Given the description of an element on the screen output the (x, y) to click on. 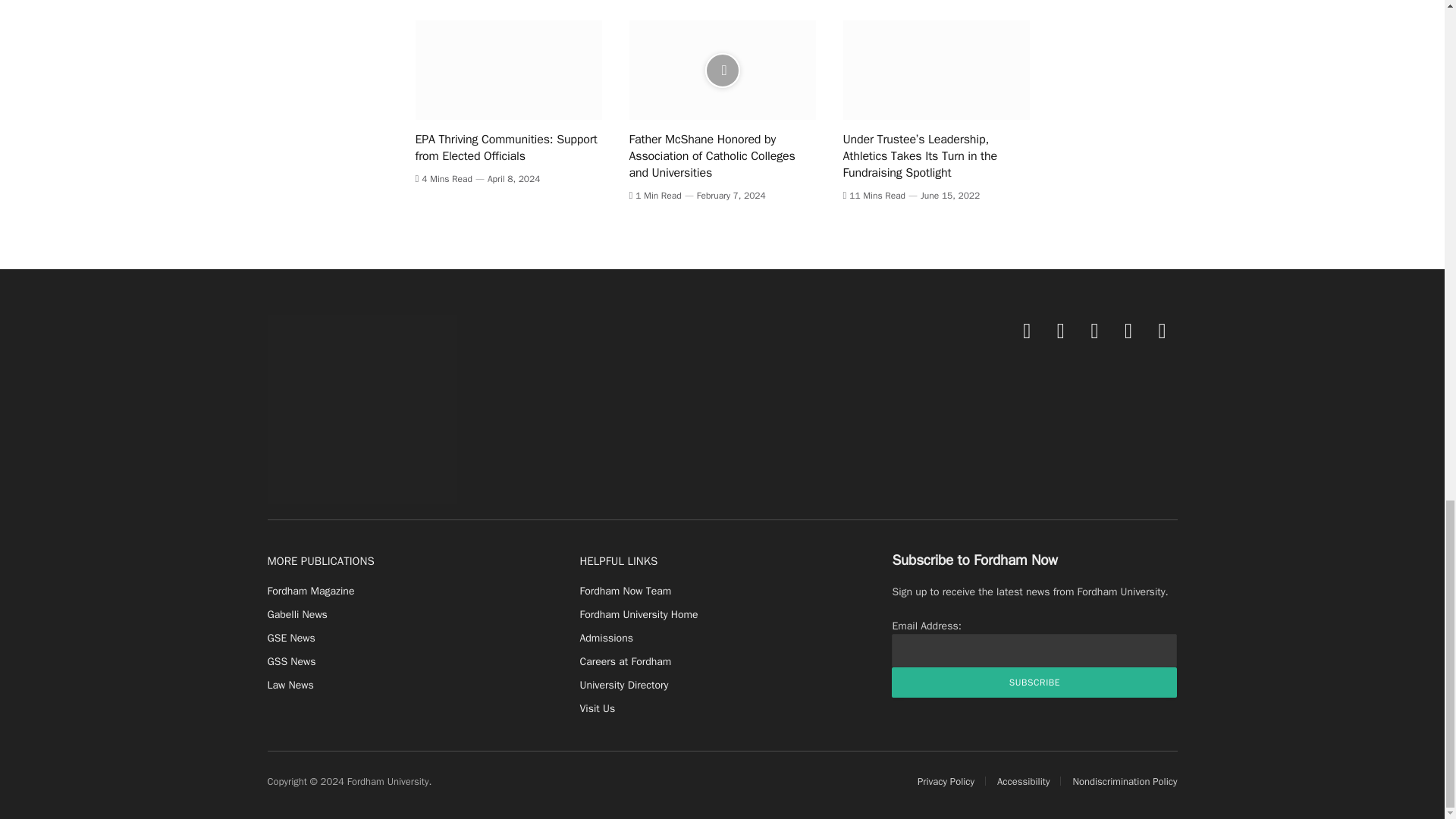
Subscribe (1033, 682)
EPA Thriving Communities: Support from Elected Officials (508, 69)
